Given the description of an element on the screen output the (x, y) to click on. 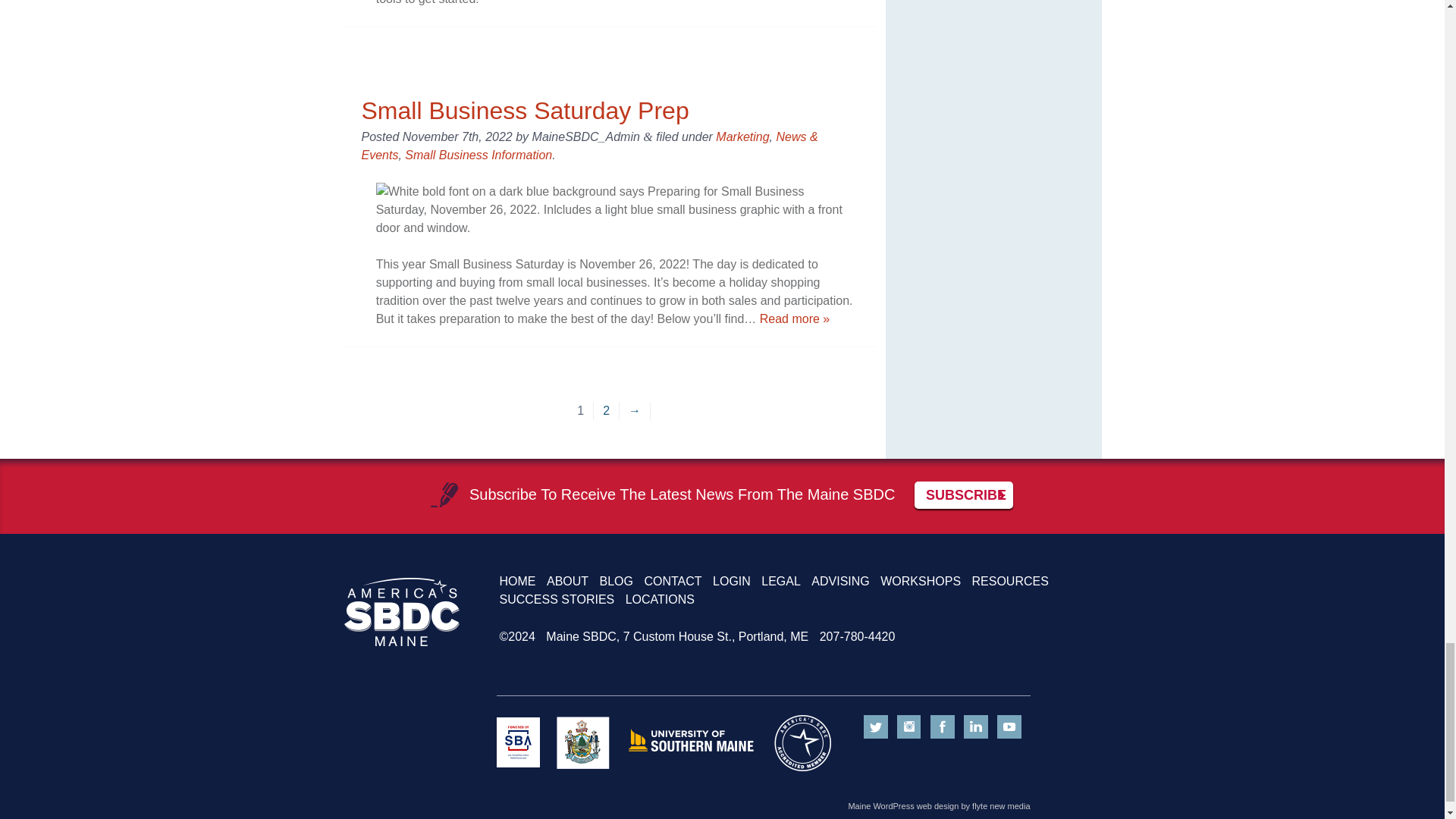
Read Small Business Saturday Prep (794, 318)
Small Business Saturday Prep (524, 110)
